Given the description of an element on the screen output the (x, y) to click on. 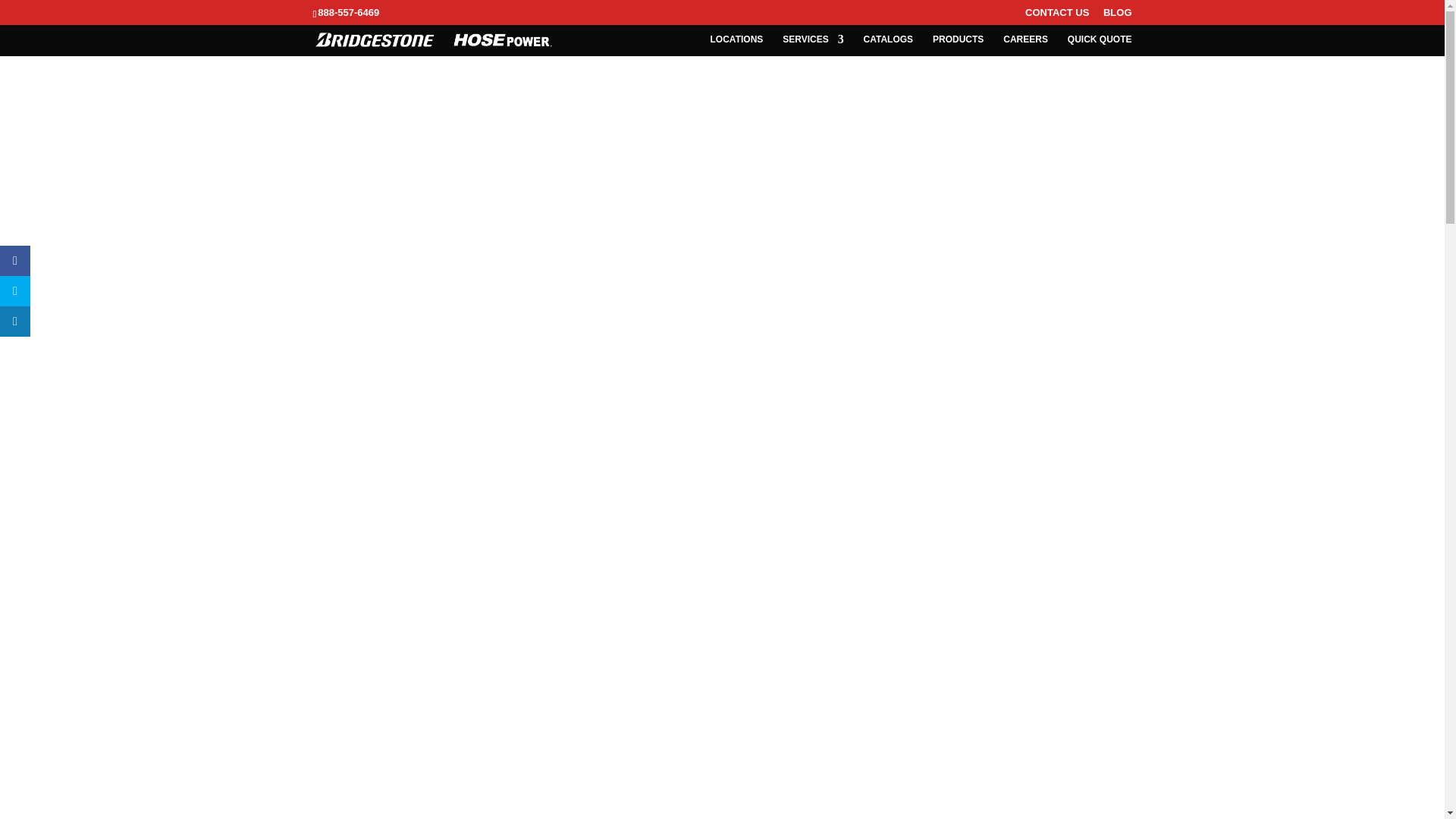
LOCATIONS (736, 45)
SERVICES (813, 45)
PRODUCTS (958, 45)
BLOG (1117, 16)
CONTACT US (1057, 16)
QUICK QUOTE (1099, 45)
CATALOGS (888, 45)
CAREERS (1025, 45)
